Given the description of an element on the screen output the (x, y) to click on. 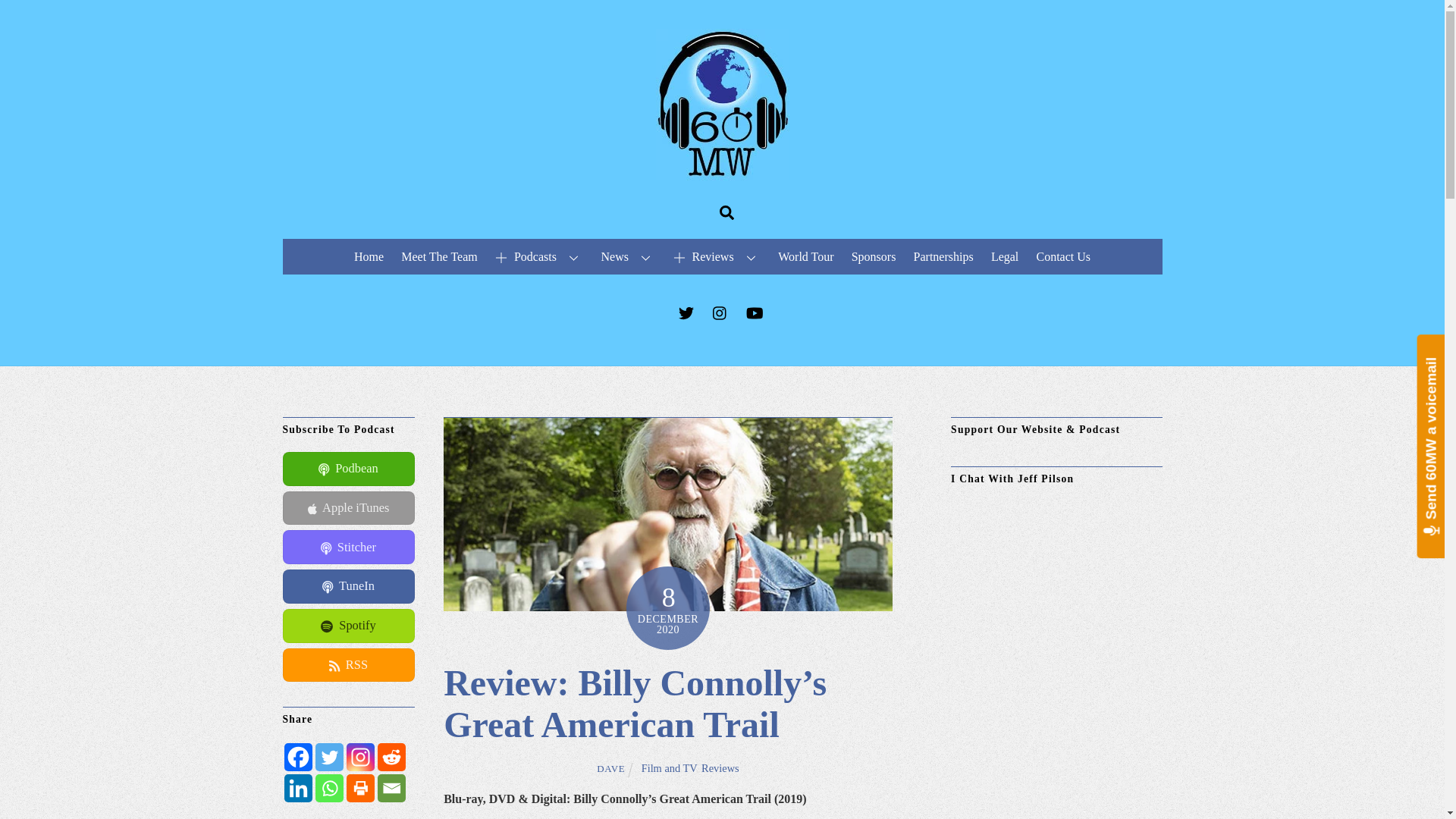
60 Minutes With (722, 173)
Film and TV (668, 767)
DAVE (610, 767)
Home (368, 256)
Legal (1005, 256)
HeaderBillyConnollyDVDReview (668, 513)
Partnerships (942, 256)
Sponsors (873, 256)
Podcasts (539, 256)
Meet The Team (439, 256)
